Given the description of an element on the screen output the (x, y) to click on. 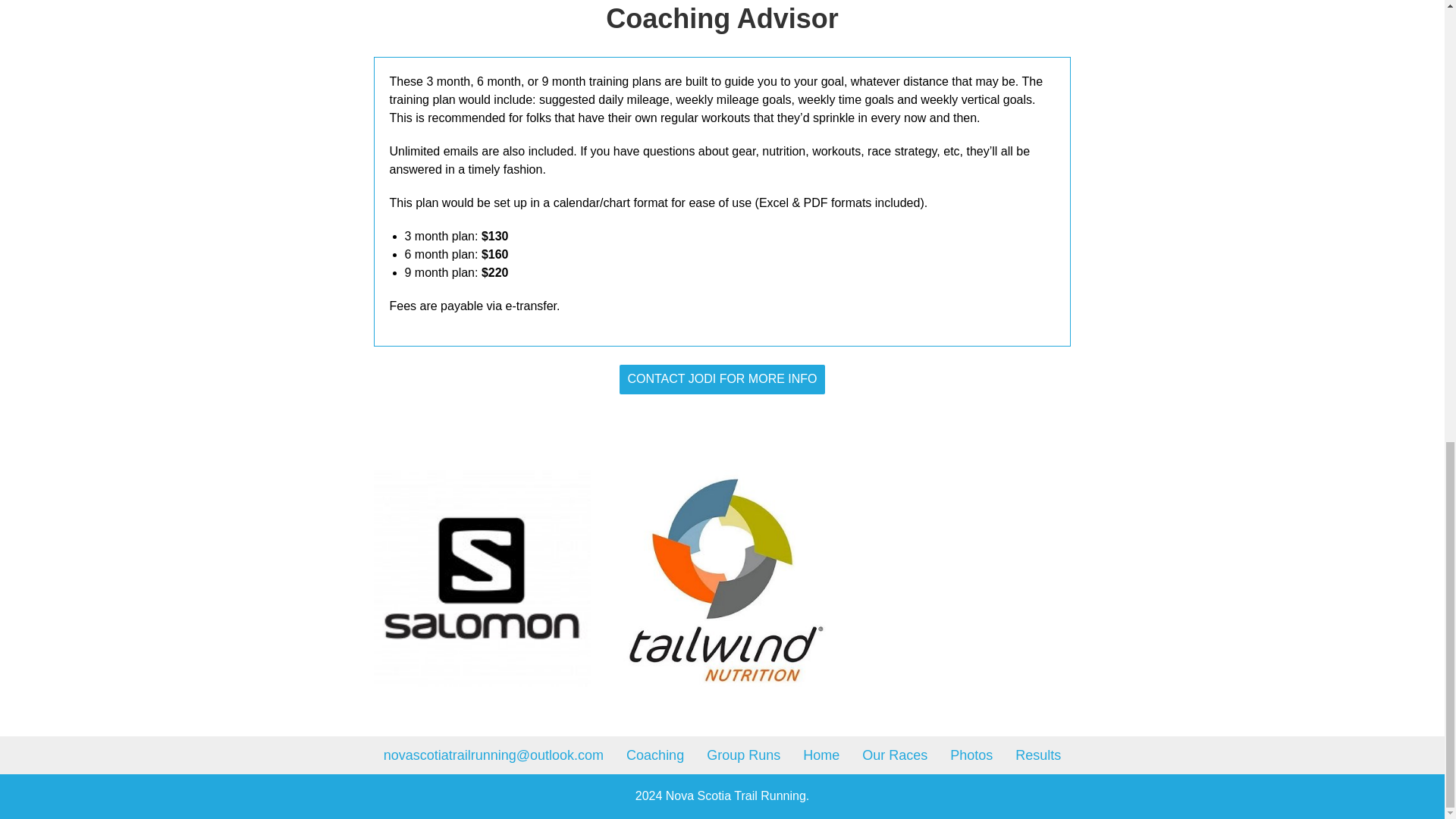
Group Runs (743, 755)
Results (1037, 755)
Photos (971, 755)
Coaching (654, 755)
CONTACT JODI FOR MORE INFO (722, 378)
Home (821, 755)
Our Races (894, 755)
